Given the description of an element on the screen output the (x, y) to click on. 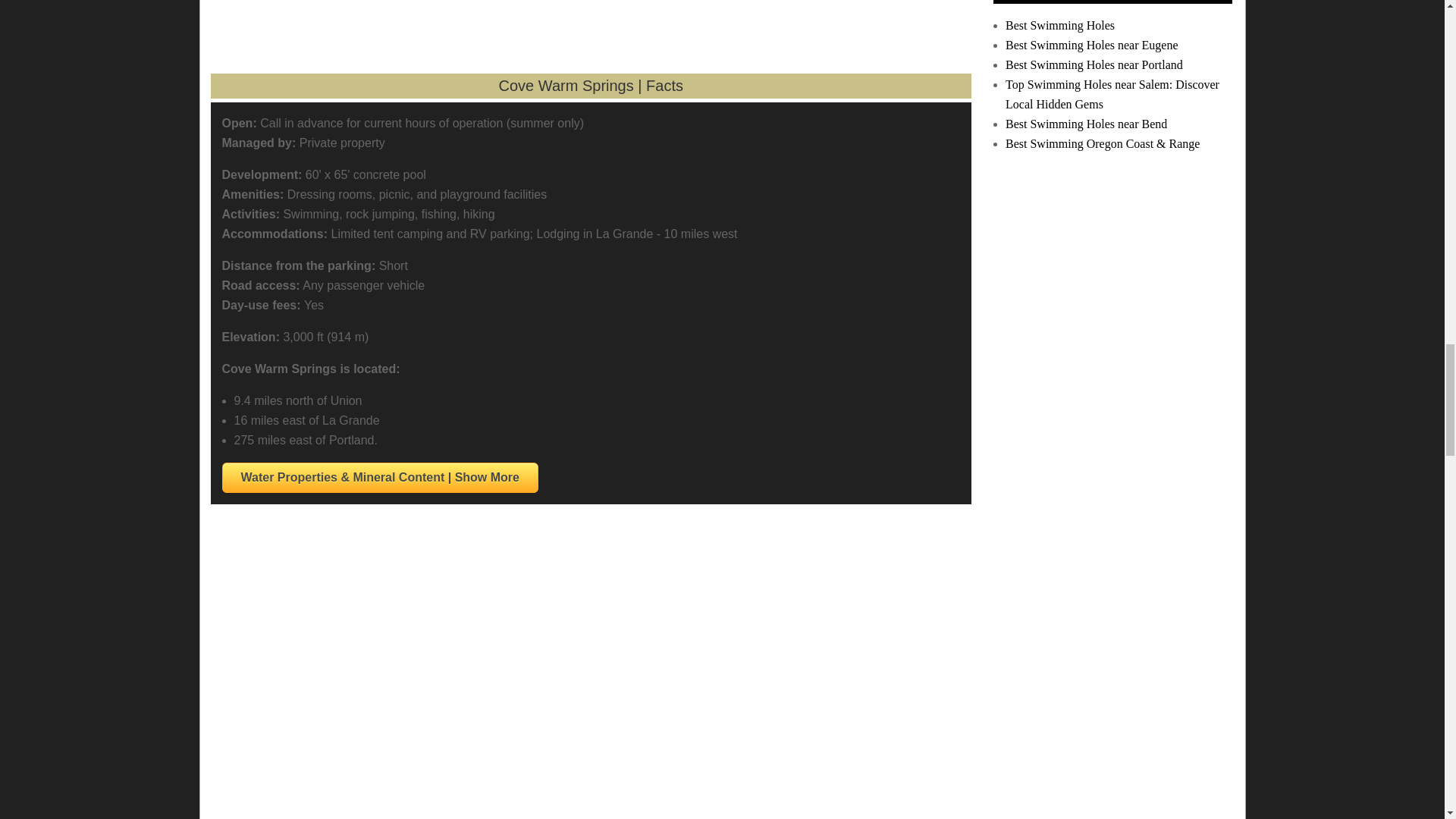
Cove Warm Springs (399, 22)
Cove Warm Springs (781, 22)
Advertisement (557, 755)
